Given the description of an element on the screen output the (x, y) to click on. 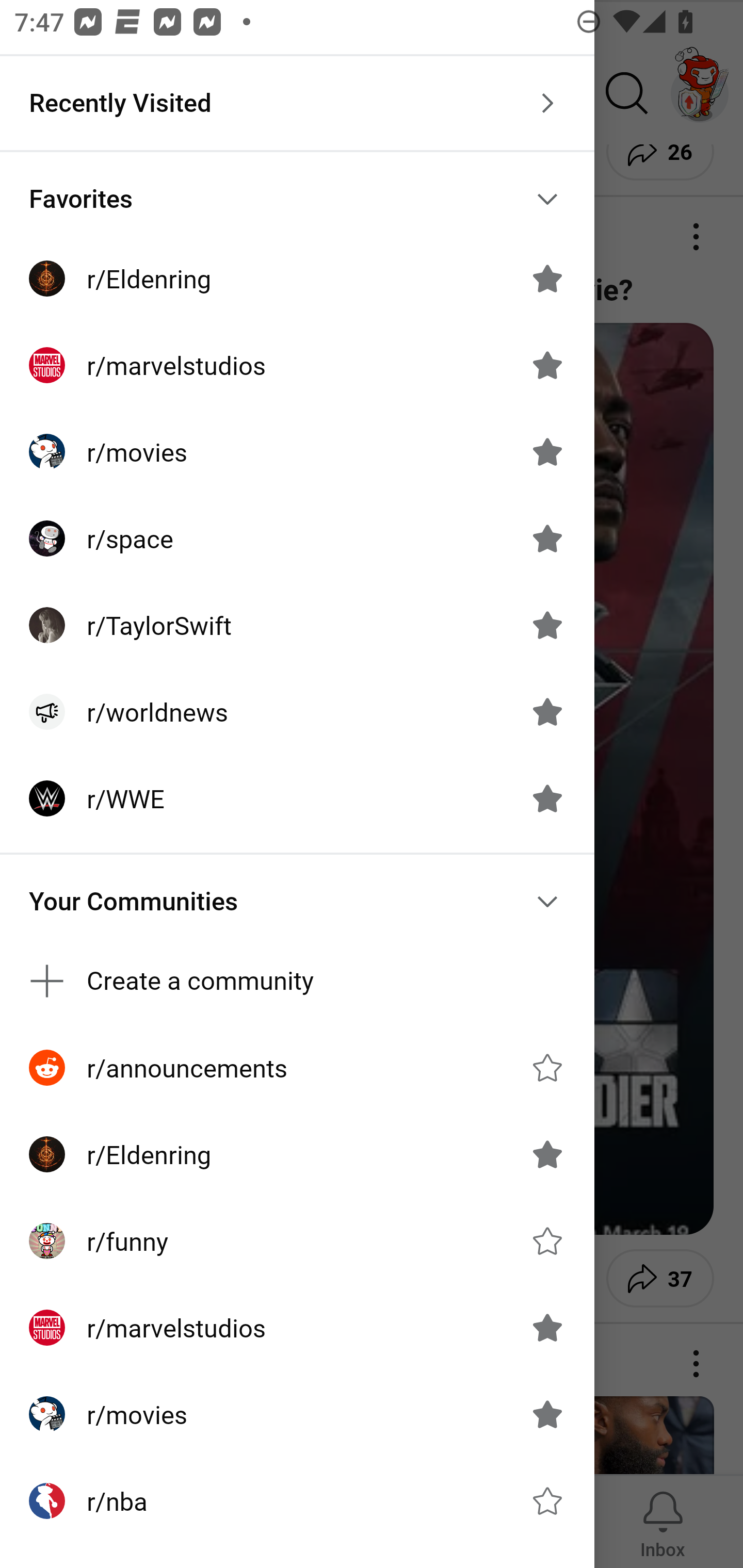
Recently Visited (297, 103)
Favorites (297, 199)
r/Eldenring Unfavorite r/Eldenring (297, 278)
Unfavorite r/Eldenring (546, 278)
r/marvelstudios Unfavorite r/marvelstudios (297, 365)
Unfavorite r/marvelstudios (546, 365)
r/movies Unfavorite r/movies (297, 452)
Unfavorite r/movies (546, 451)
r/space Unfavorite r/space (297, 538)
Unfavorite r/space (546, 538)
r/TaylorSwift Unfavorite r/TaylorSwift (297, 624)
Unfavorite r/TaylorSwift (546, 624)
r/worldnews Unfavorite r/worldnews (297, 711)
Unfavorite r/worldnews (546, 711)
r/WWE Unfavorite r/WWE (297, 798)
Unfavorite r/WWE (546, 798)
Your Communities (297, 901)
Create a community (297, 980)
r/announcements Favorite r/announcements (297, 1067)
Favorite r/announcements (546, 1067)
r/Eldenring Unfavorite r/Eldenring (297, 1154)
Unfavorite r/Eldenring (546, 1154)
r/funny Favorite r/funny (297, 1240)
Favorite r/funny (546, 1241)
r/marvelstudios Unfavorite r/marvelstudios (297, 1327)
Unfavorite r/marvelstudios (546, 1327)
r/movies Unfavorite r/movies (297, 1414)
Unfavorite r/movies (546, 1414)
r/nba Favorite r/nba (297, 1501)
Favorite r/nba (546, 1501)
